Given the description of an element on the screen output the (x, y) to click on. 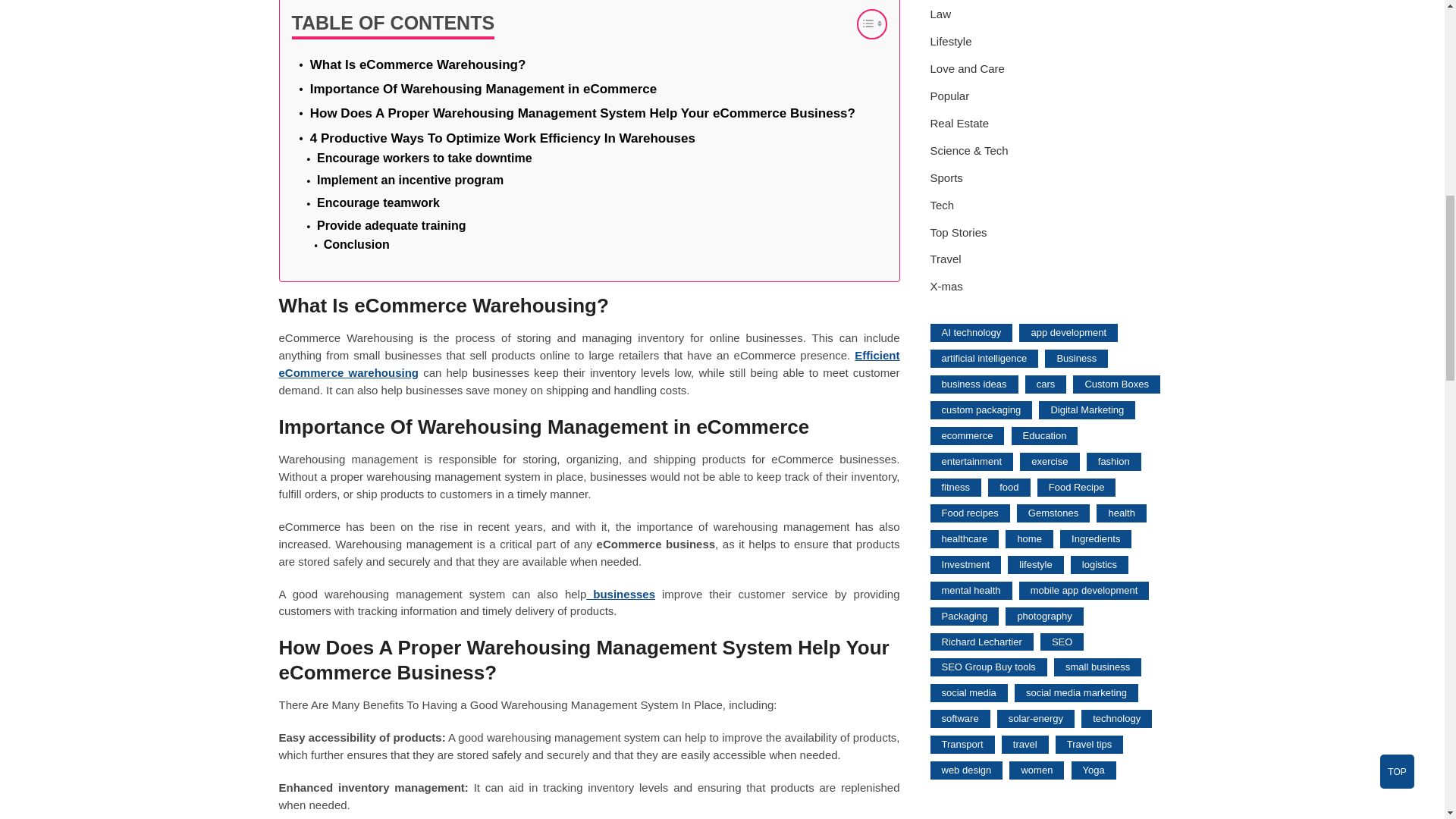
What Is eCommerce Warehousing? (417, 64)
Provide adequate training (391, 225)
Conclusion (356, 244)
4 Productive Ways To Optimize Work Efficiency In Warehouses (502, 137)
Implement an incentive program (410, 180)
Encourage workers to take downtime (424, 158)
Importance Of Warehousing Management in eCommerce (484, 88)
Encourage teamwork (378, 202)
